Given the description of an element on the screen output the (x, y) to click on. 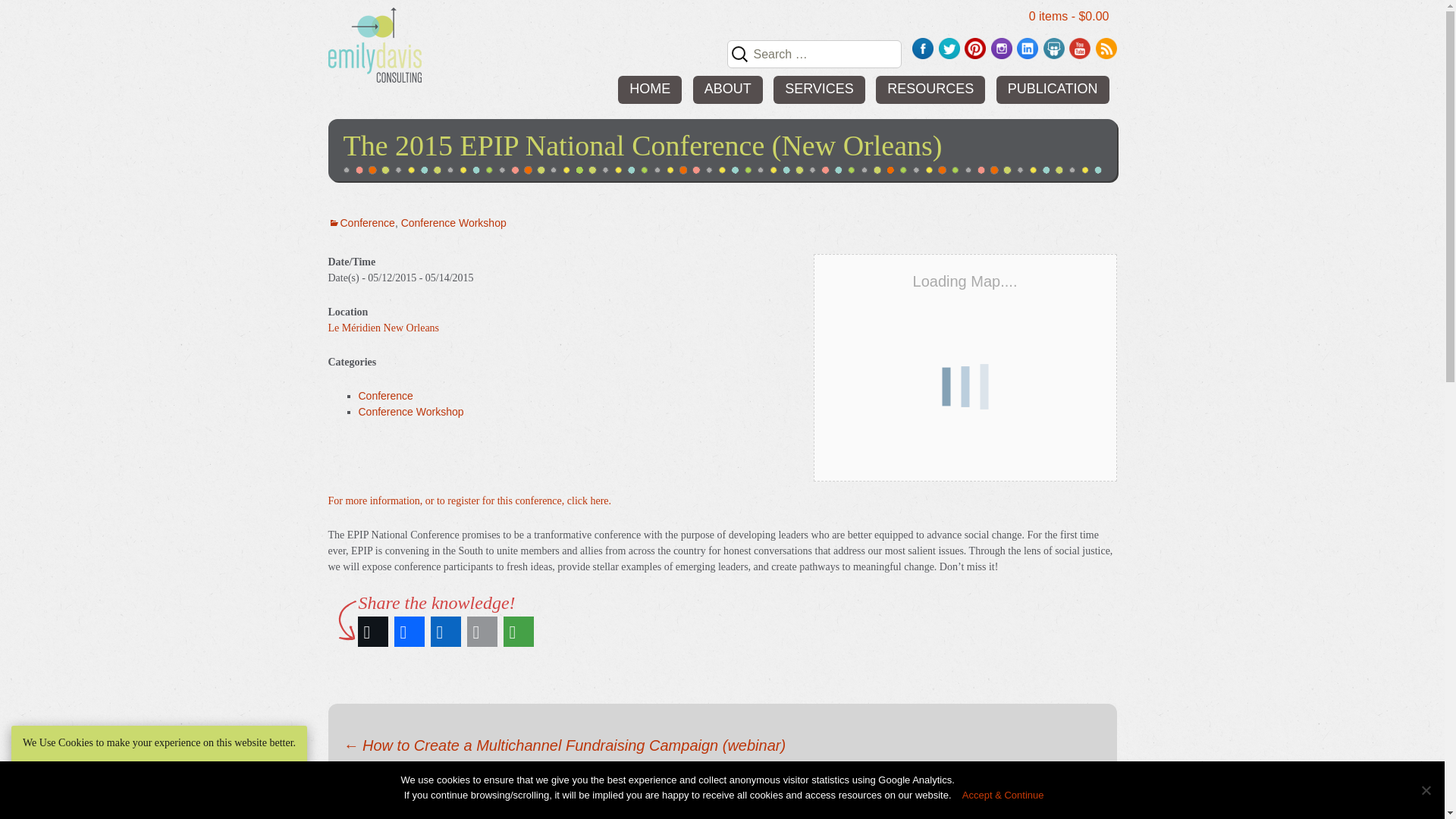
BUY YOUR COPY (1070, 121)
More Options (518, 631)
SERVICES (818, 90)
HOME (649, 90)
Emily Davis Consulting (373, 43)
Conference (360, 223)
Facebook (409, 631)
RESOURCES (930, 90)
LinkedIn (446, 631)
SHOP (950, 121)
Search (37, 15)
Conference Workshop (453, 223)
No (1425, 789)
Conference (385, 395)
